Given the description of an element on the screen output the (x, y) to click on. 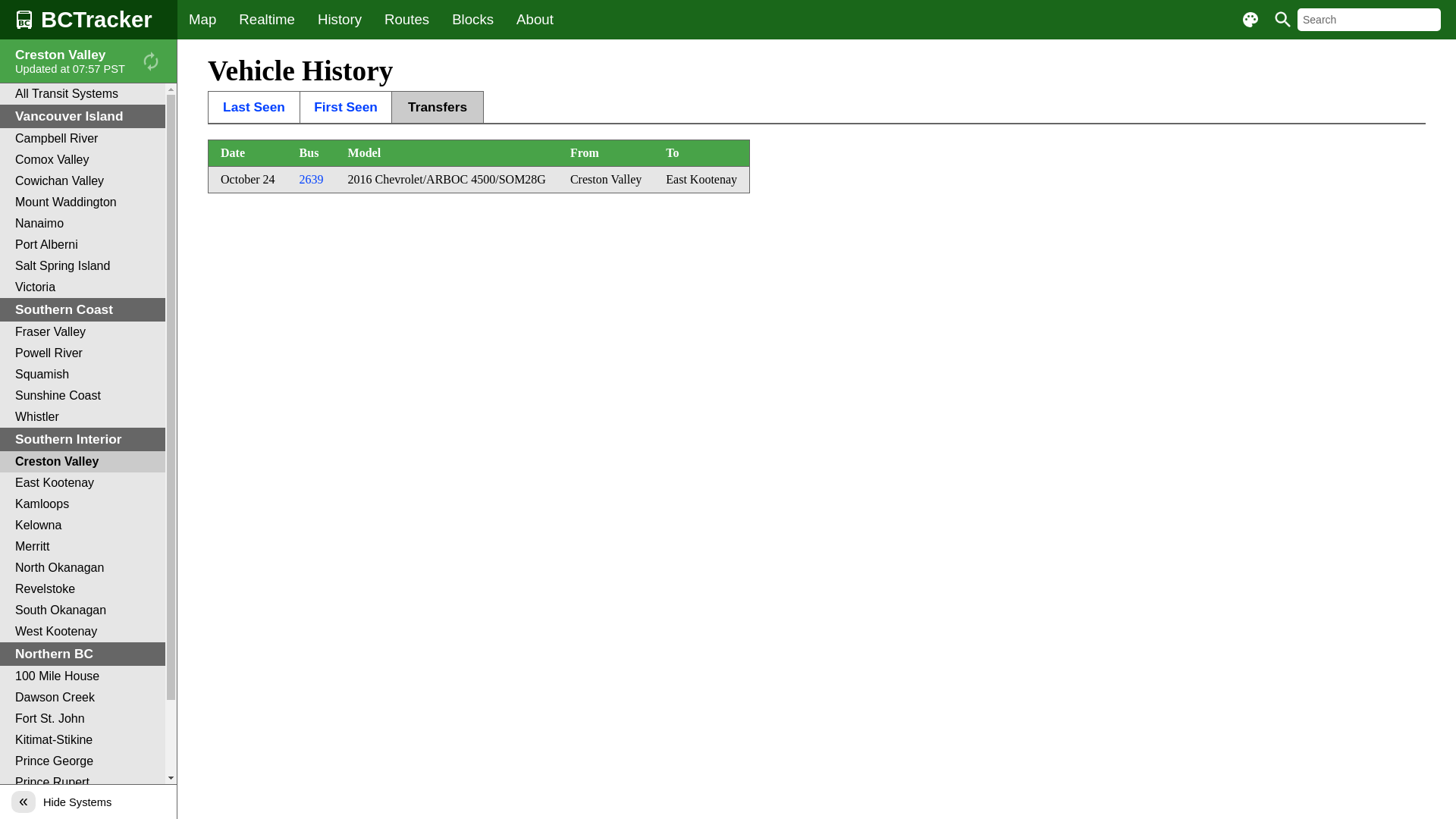
About Element type: text (534, 19)
Last Seen Element type: text (253, 106)
100 Mile House Element type: text (82, 676)
Whistler Element type: text (82, 416)
Squamish Element type: text (82, 374)
All Transit Systems Element type: text (82, 93)
Routes Element type: text (406, 19)
Mount Waddington Element type: text (82, 202)
Kamloops Element type: text (82, 503)
Merritt Element type: text (82, 546)
Campbell River Element type: text (82, 138)
Comox Valley Element type: text (82, 159)
North Okanagan Element type: text (82, 567)
Powell River Element type: text (82, 353)
History Element type: text (339, 19)
Sunshine Coast Element type: text (82, 395)
Blocks Element type: text (472, 19)
Fort St. John Element type: text (82, 718)
Prince Rupert Element type: text (82, 782)
Port Alberni Element type: text (82, 244)
Realtime Element type: text (266, 19)
Fraser Valley Element type: text (82, 331)
East Kootenay Element type: text (82, 482)
Revelstoke Element type: text (82, 588)
Map Element type: text (202, 19)
Salt Spring Island Element type: text (82, 265)
Cowichan Valley Element type: text (82, 180)
Dawson Creek Element type: text (82, 697)
Prince George Element type: text (82, 760)
South Okanagan Element type: text (82, 610)
West Kootenay Element type: text (82, 631)
Victoria Element type: text (82, 287)
Quesnel Element type: text (82, 803)
First Seen Element type: text (345, 106)
Kitimat-Stikine Element type: text (82, 739)
Kelowna Element type: text (82, 525)
Nanaimo Element type: text (82, 223)
2639 Element type: text (311, 179)
BCTracker Element type: text (88, 19)
